Given the description of an element on the screen output the (x, y) to click on. 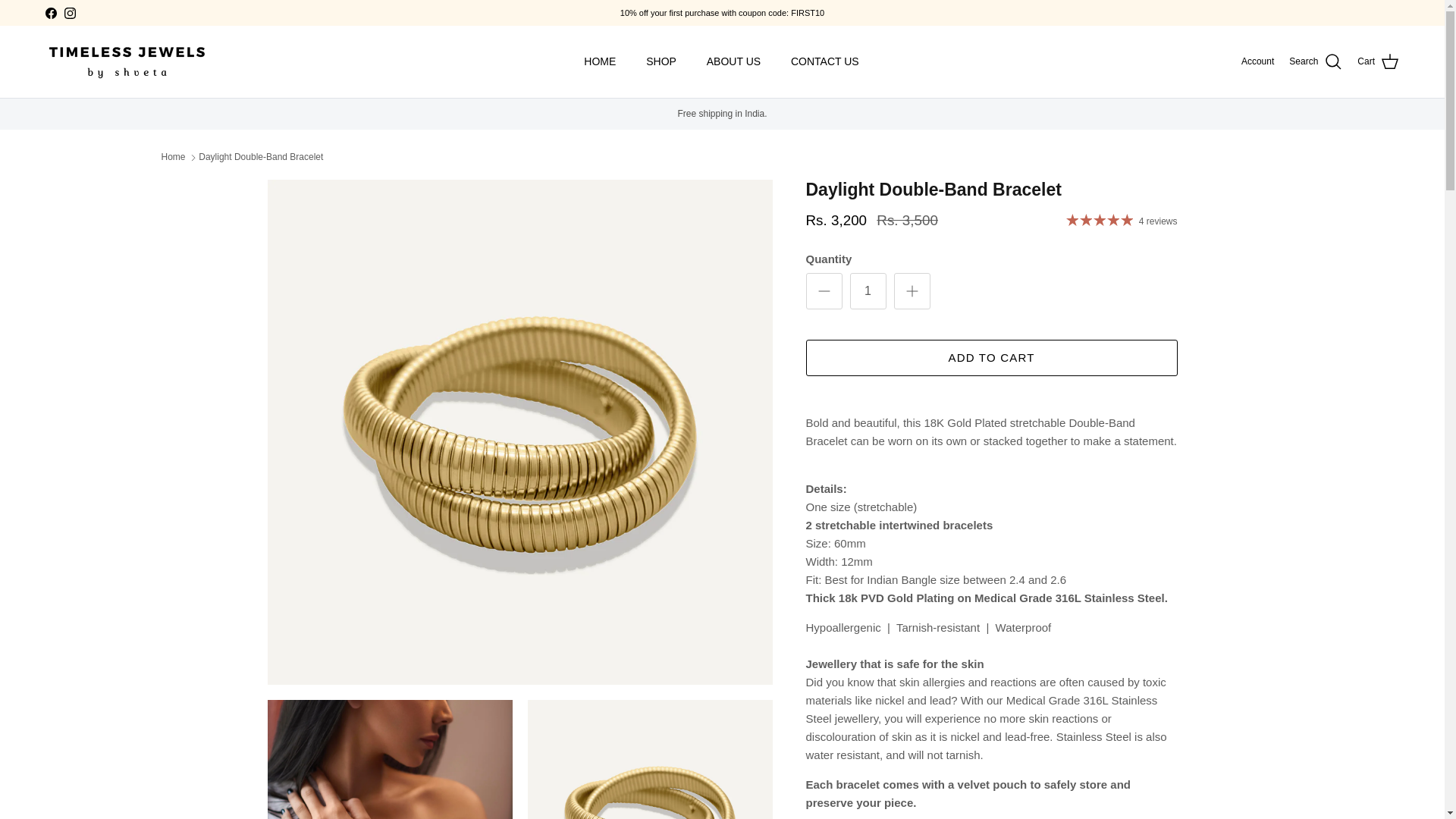
Timeless Jewels by Shveta  on Facebook (50, 12)
CONTACT US (824, 61)
Search (1315, 62)
Timeless Jewels by Shveta  (126, 61)
HOME (599, 61)
Instagram (69, 12)
Facebook (50, 12)
SHOP (660, 61)
ABOUT US (733, 61)
Timeless Jewels by Shveta  on Instagram (69, 12)
